Given the description of an element on the screen output the (x, y) to click on. 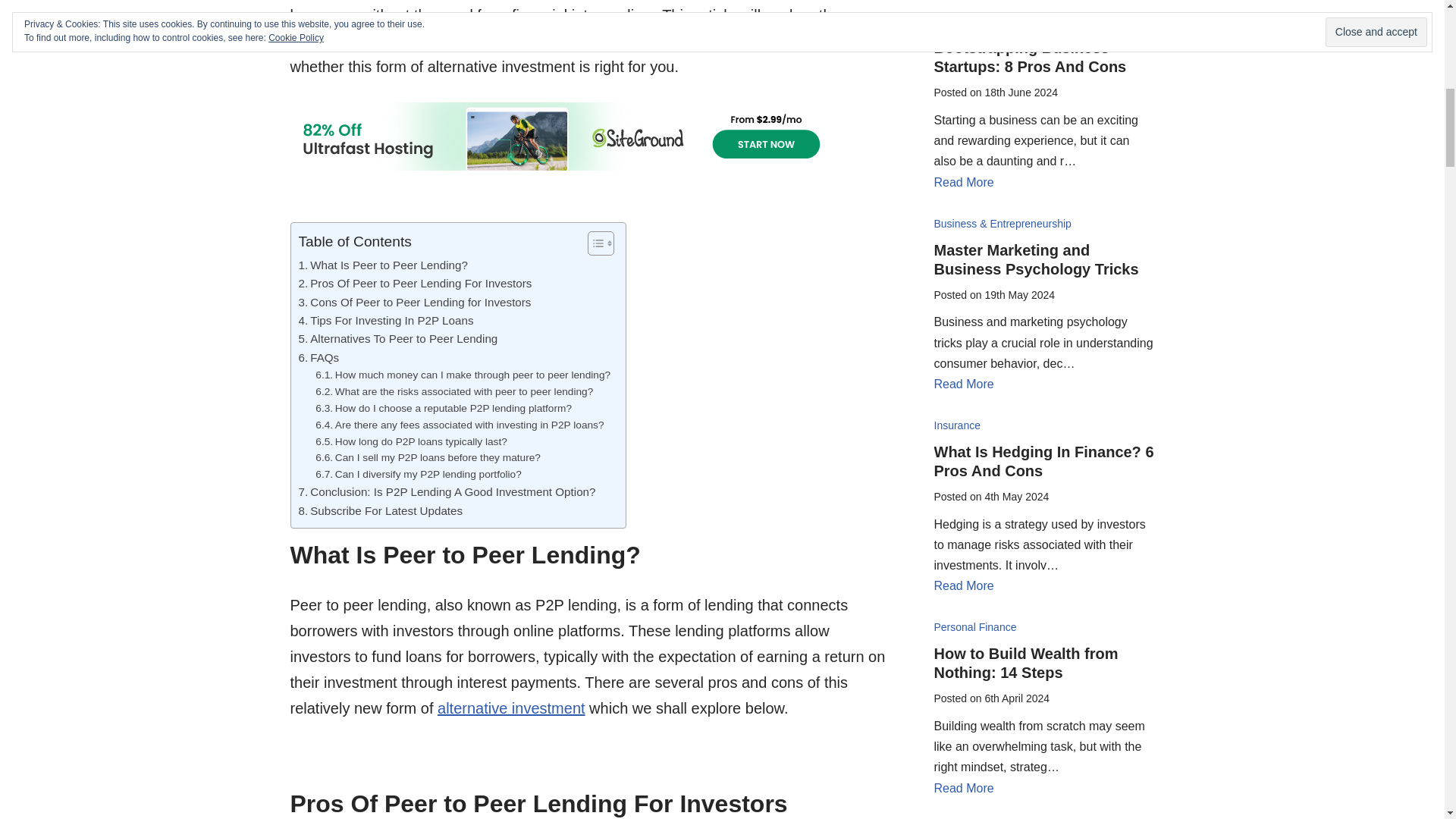
What Is Peer to Peer Lending? (382, 265)
Alternatives To Peer to Peer Lending (397, 339)
Cons Of Peer to Peer Lending for Investors (414, 302)
FAQs (318, 357)
Pros Of Peer to Peer Lending For Investors (415, 283)
Tips For Investing In P2P Loans (386, 321)
